Given the description of an element on the screen output the (x, y) to click on. 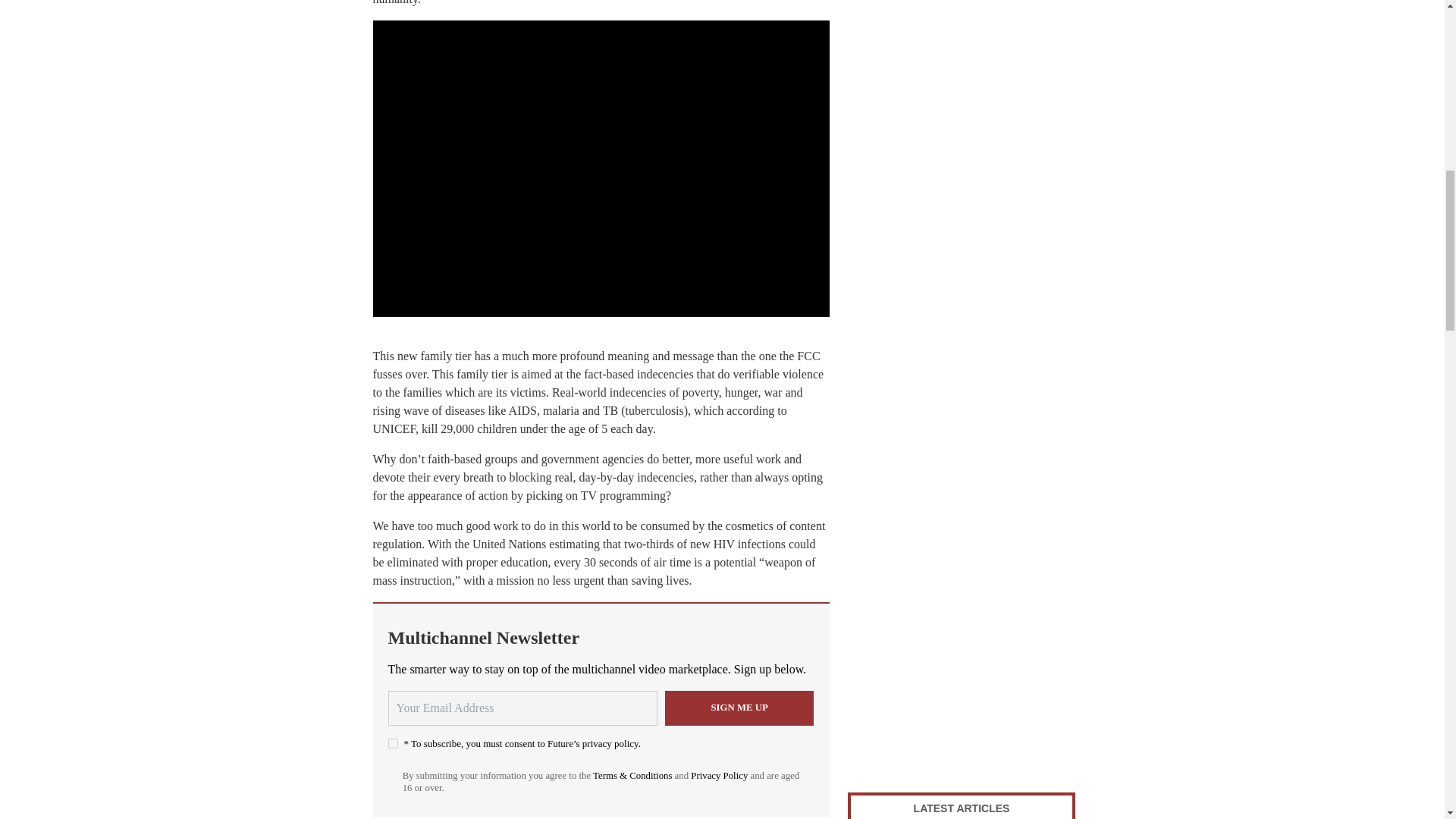
Privacy Policy (719, 775)
on (392, 743)
Sign me up (739, 708)
Sign me up (739, 708)
